Given the description of an element on the screen output the (x, y) to click on. 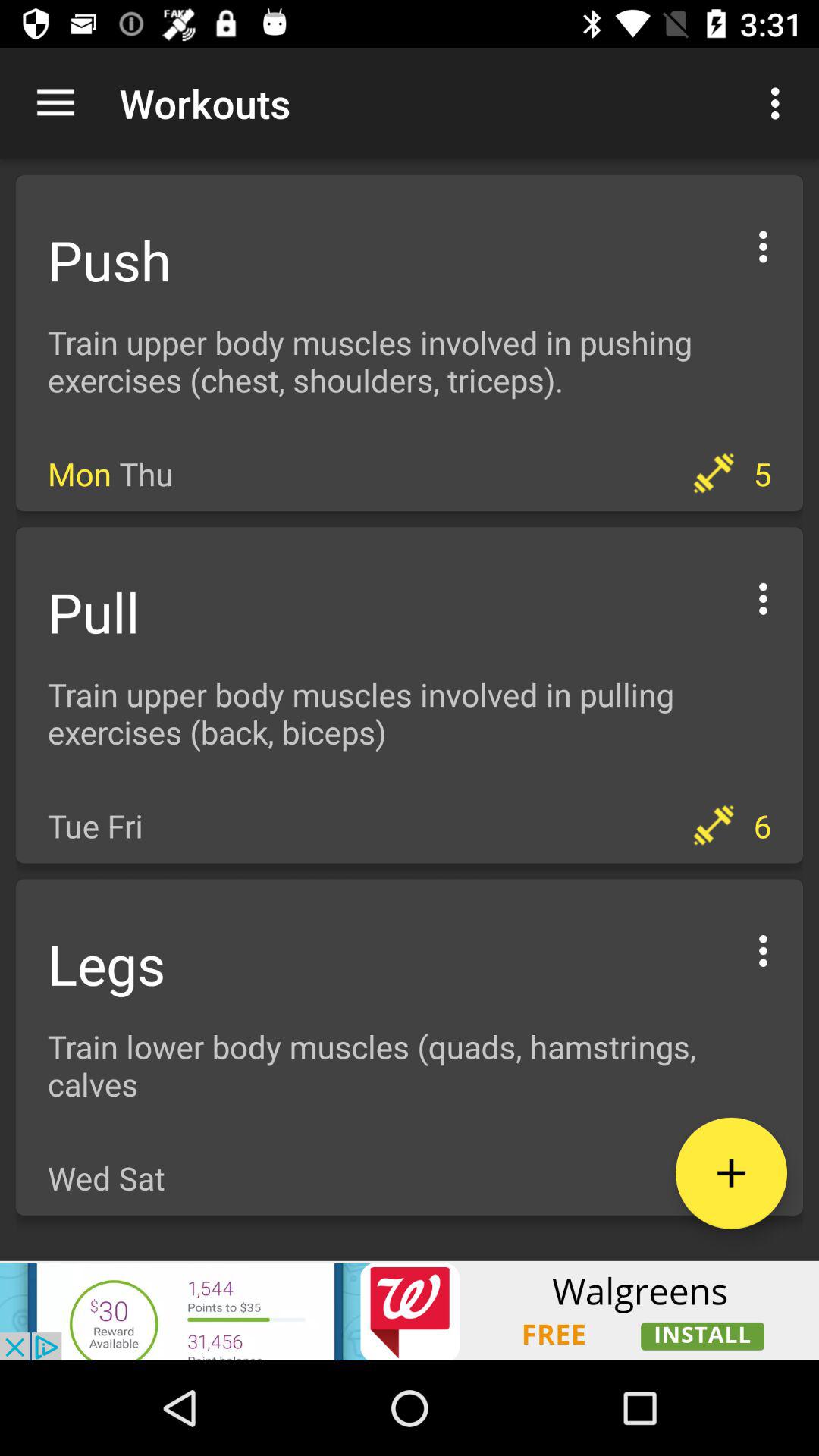
open (731, 1173)
